Given the description of an element on the screen output the (x, y) to click on. 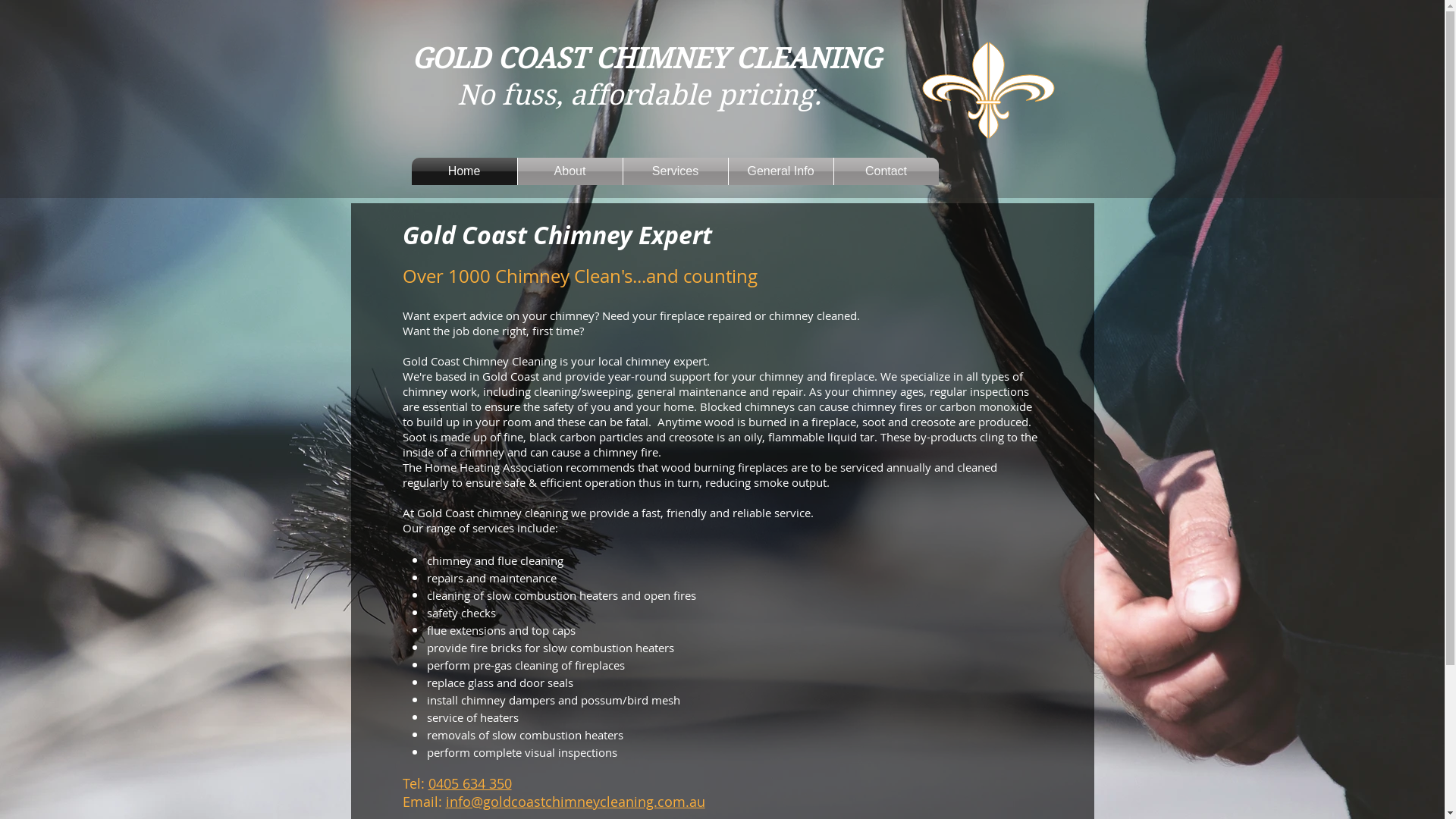
About Element type: text (569, 171)
Services Element type: text (675, 171)
Home Element type: text (463, 171)
Contact Element type: text (886, 171)
0405 634 350 Element type: text (469, 783)
info@goldcoastchimneycleaning.com.au Element type: text (575, 801)
General Info Element type: text (780, 171)
